Given the description of an element on the screen output the (x, y) to click on. 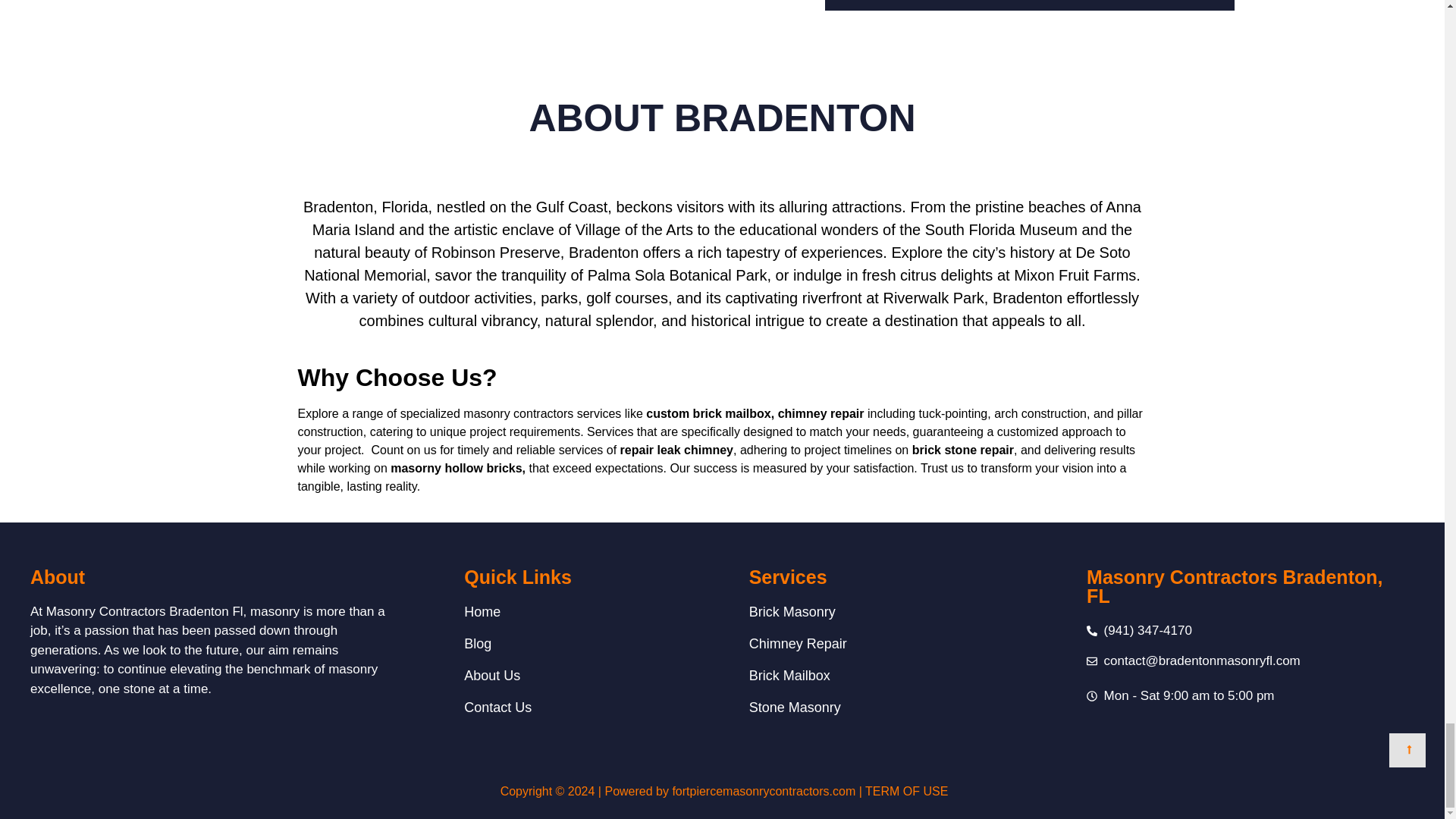
Home (583, 611)
Chimney Repair (910, 643)
Brick Mailbox (910, 675)
Stone Masonry (910, 707)
About Us (583, 675)
Blog (583, 643)
Contact Us (583, 707)
Brick Masonry (910, 611)
